Given the description of an element on the screen output the (x, y) to click on. 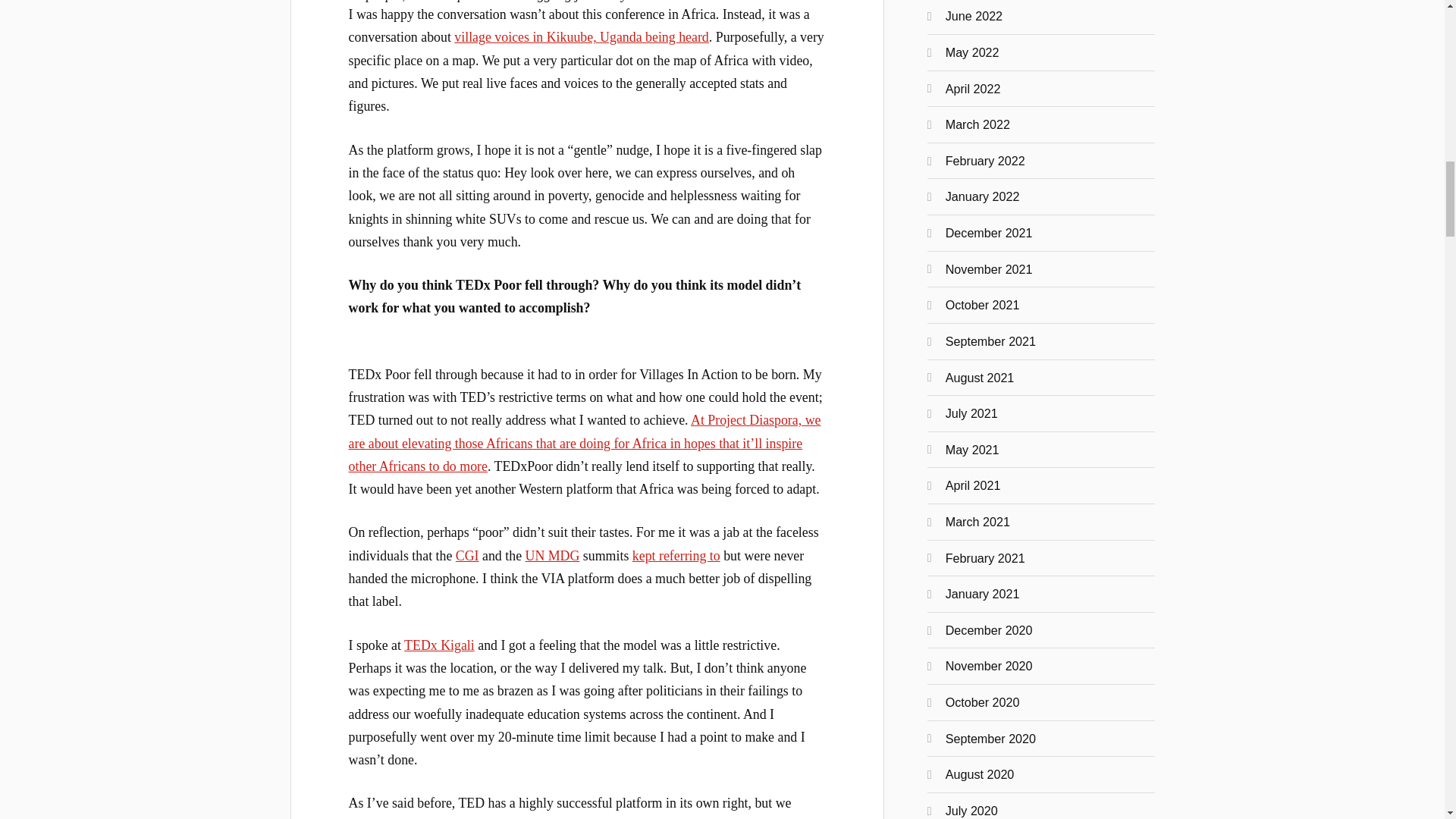
TEDx Kigali (439, 645)
CGI (467, 555)
village voices in Kikuube, Uganda being heard (580, 37)
kept referring to (675, 555)
UN MDG (552, 555)
